Given the description of an element on the screen output the (x, y) to click on. 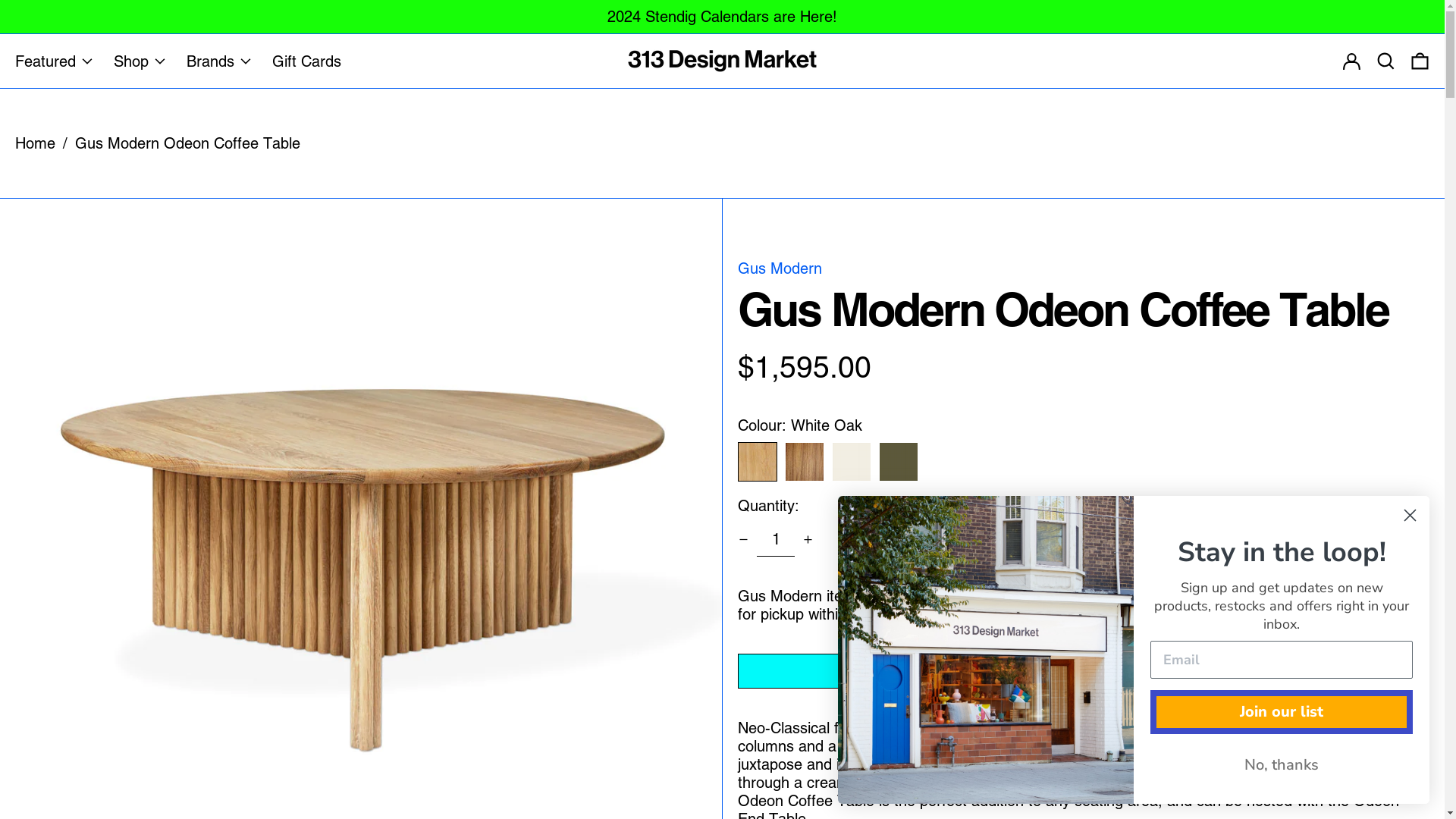
Featured Element type: text (56, 60)
Submit Element type: text (18, 7)
No, thanks Element type: text (1281, 765)
Brands Element type: text (221, 60)
Shop Element type: text (142, 60)
Gift Cards Element type: text (306, 60)
Close dialog 1 Element type: text (1409, 515)
Home Element type: text (35, 143)
Search Element type: text (1385, 60)
2024 Stendig Calendars are Here! Element type: text (722, 16)
Join our list Element type: text (1281, 712)
0 items Element type: text (1419, 60)
Log in Element type: text (1351, 60)
Gus Modern Odeon Coffee Table Element type: text (187, 143)
Gus Modern Element type: text (779, 268)
